Given the description of an element on the screen output the (x, y) to click on. 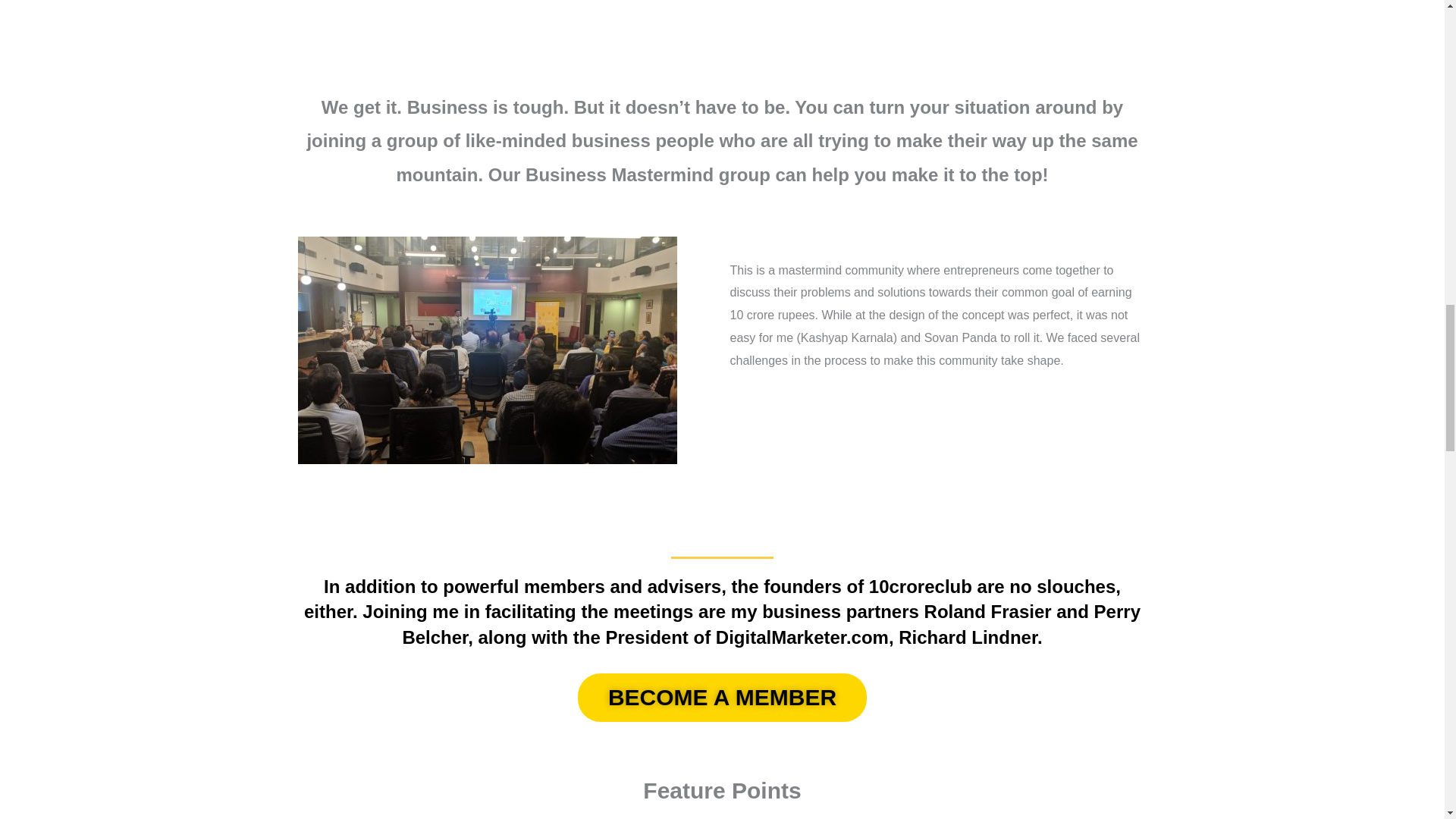
BECOME A MEMBER (722, 697)
10croreclubwide (487, 350)
